Given the description of an element on the screen output the (x, y) to click on. 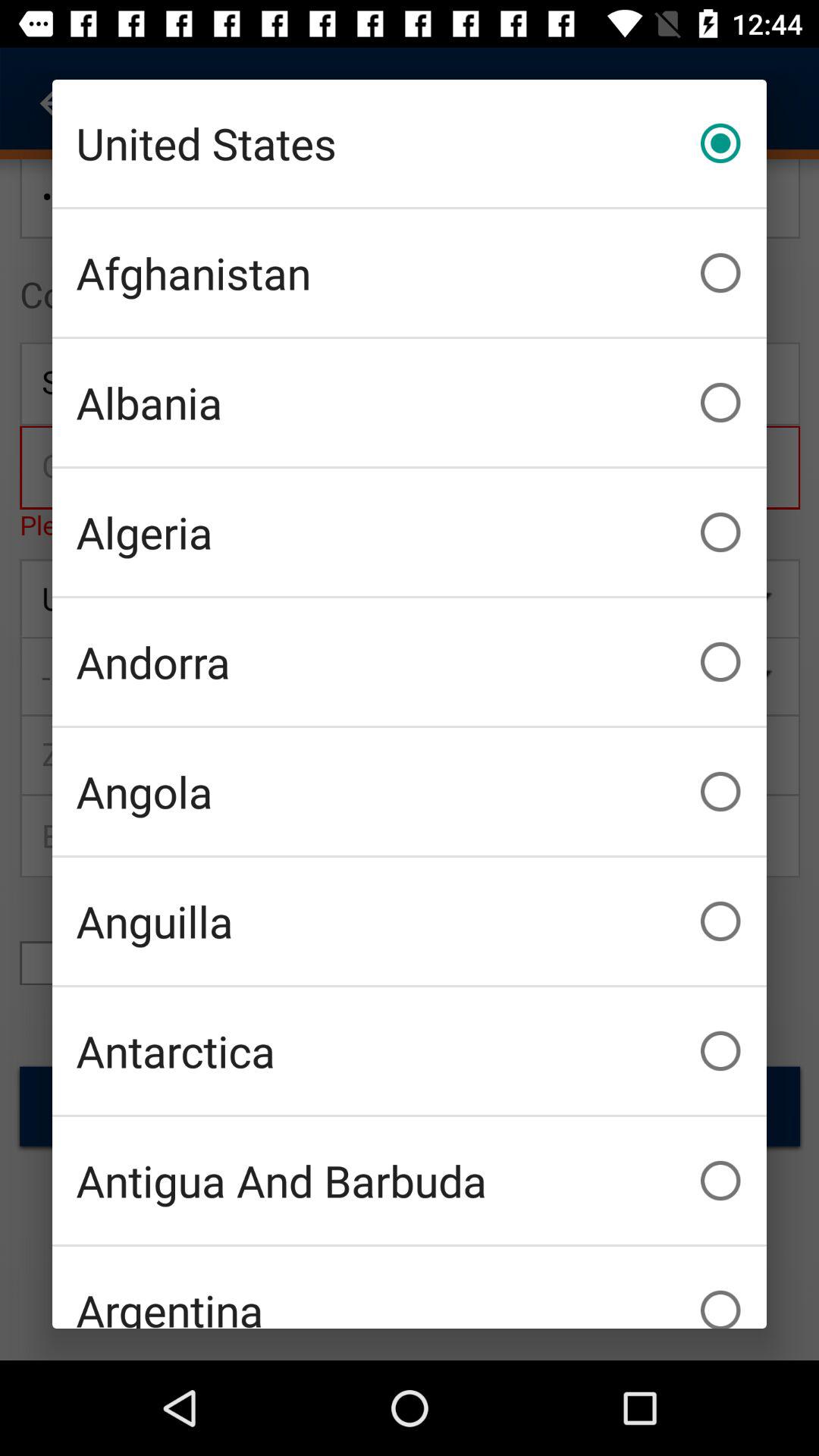
turn on the item below the antigua and barbuda item (409, 1287)
